Given the description of an element on the screen output the (x, y) to click on. 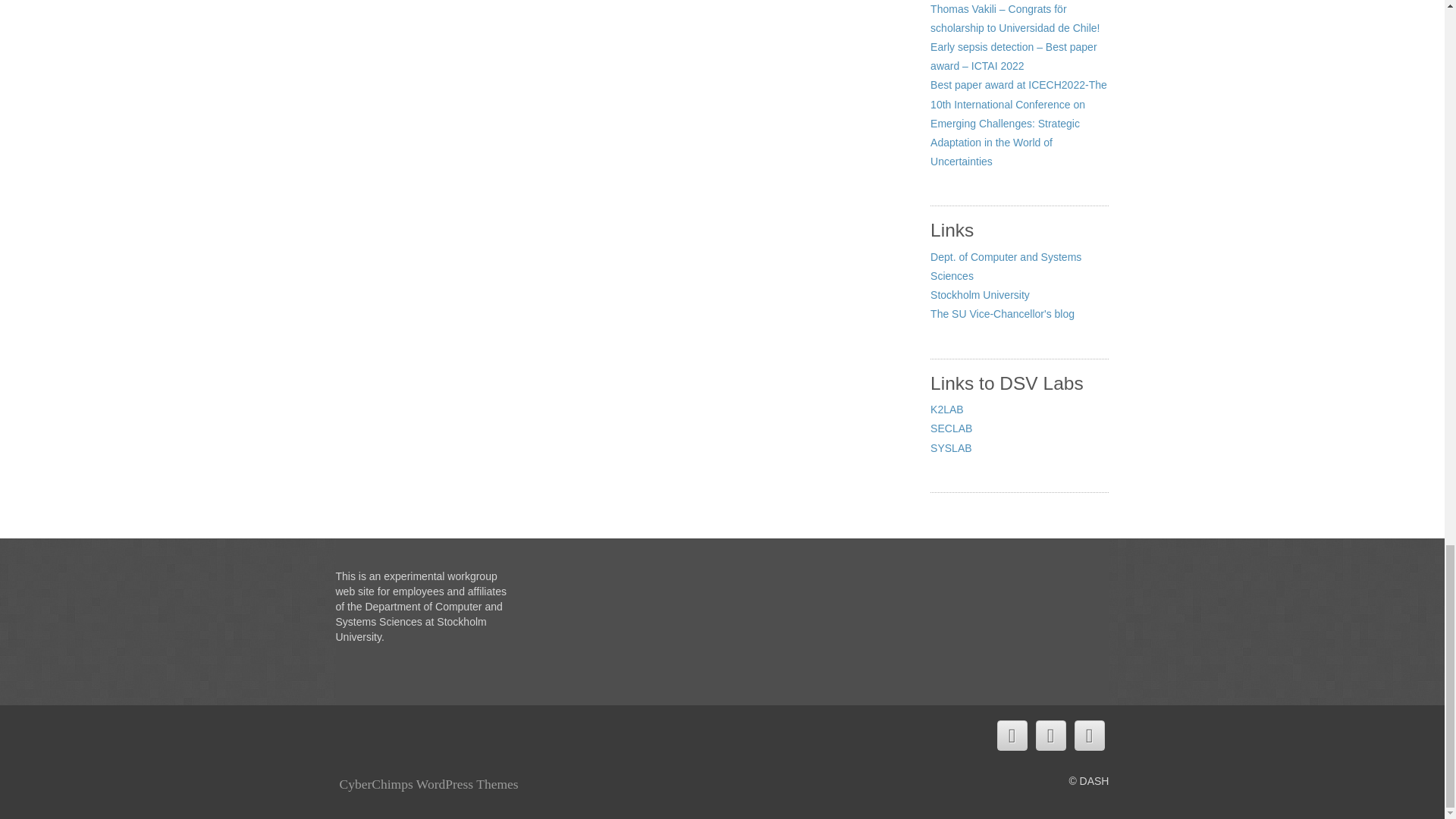
DASH Twitter (1010, 735)
DASH Googleplus (1088, 735)
DASH Facebook (1050, 735)
